Given the description of an element on the screen output the (x, y) to click on. 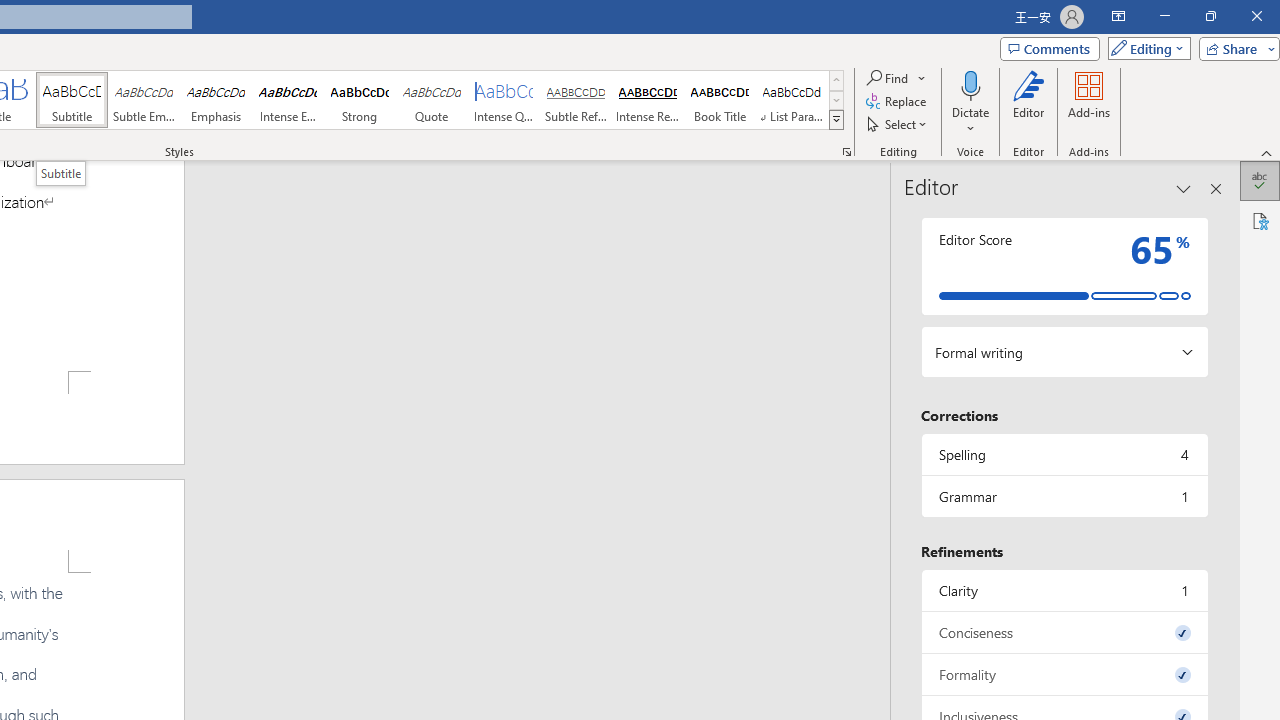
Emphasis (216, 100)
